Given the description of an element on the screen output the (x, y) to click on. 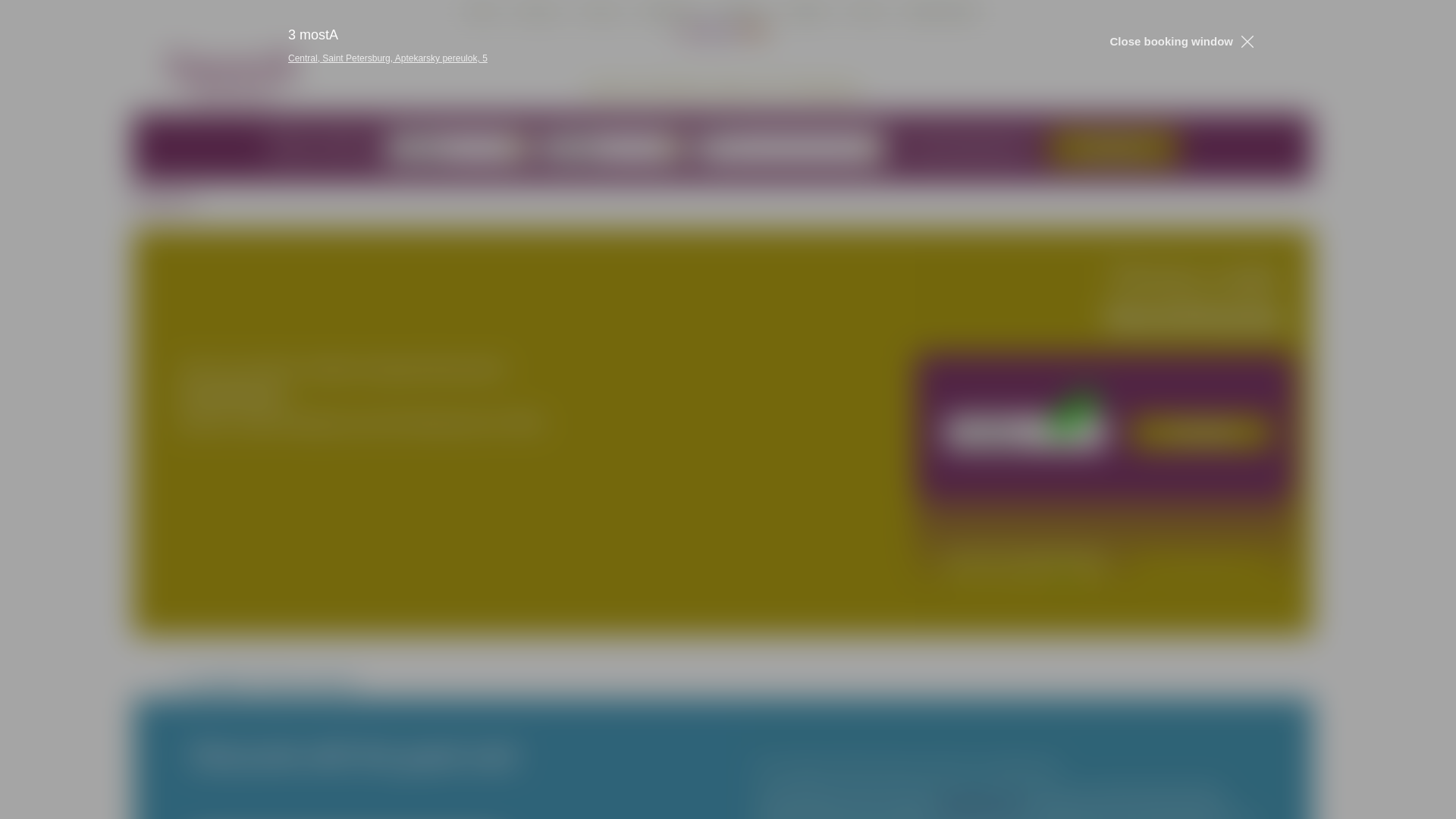
Deutsch Element type: hover (756, 30)
Beauty Salon Element type: text (942, 11)
About us Element type: text (541, 11)
Restaurant Element type: text (669, 11)
3D tour Element type: text (867, 11)
info@3mosta.com Element type: text (979, 742)
Home Element type: text (482, 11)
Contacts Element type: text (805, 11)
Rooms Element type: text (602, 11)
English (UK) Element type: hover (687, 30)
Services Element type: text (740, 11)
